Given the description of an element on the screen output the (x, y) to click on. 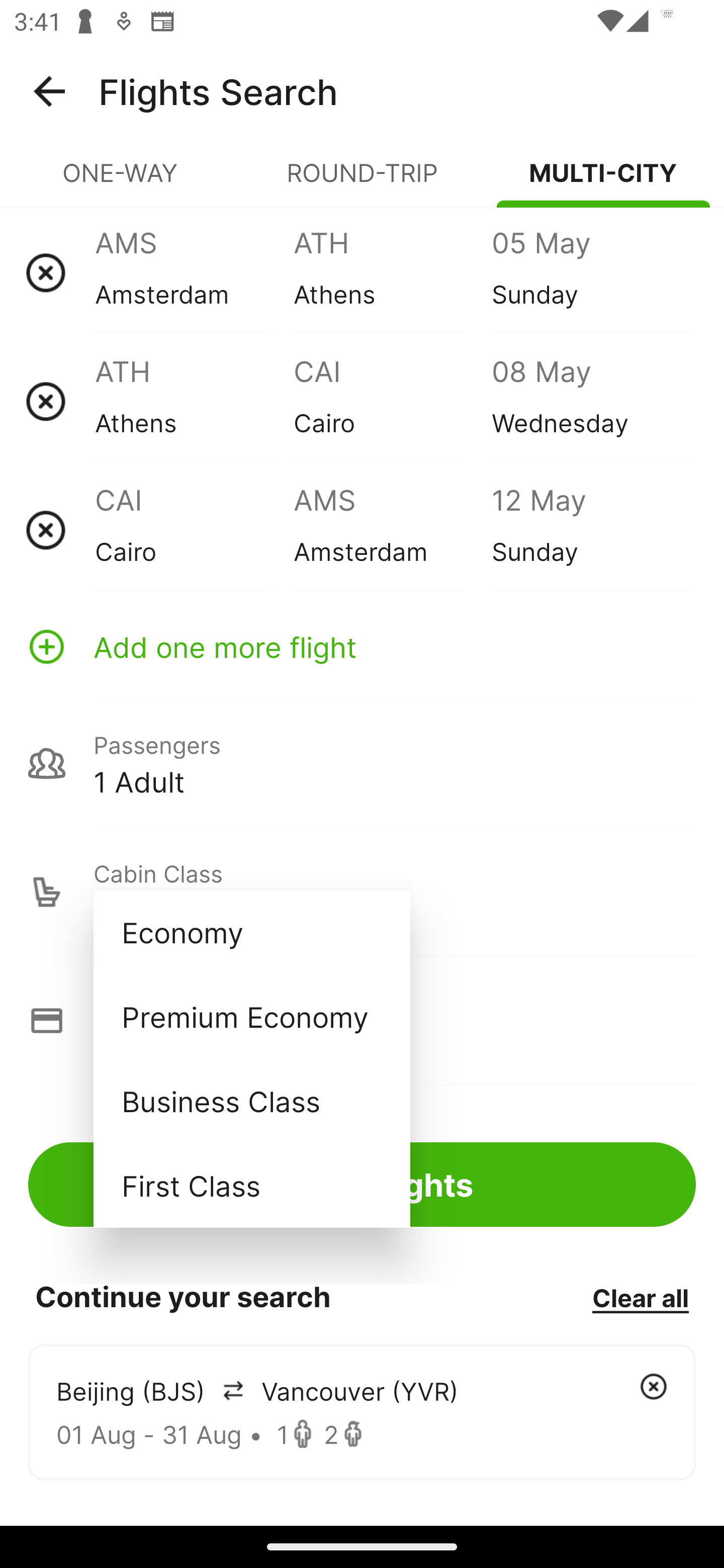
Economy (251, 931)
Premium Economy (251, 1015)
Business Class (251, 1100)
First Class (251, 1185)
